Given the description of an element on the screen output the (x, y) to click on. 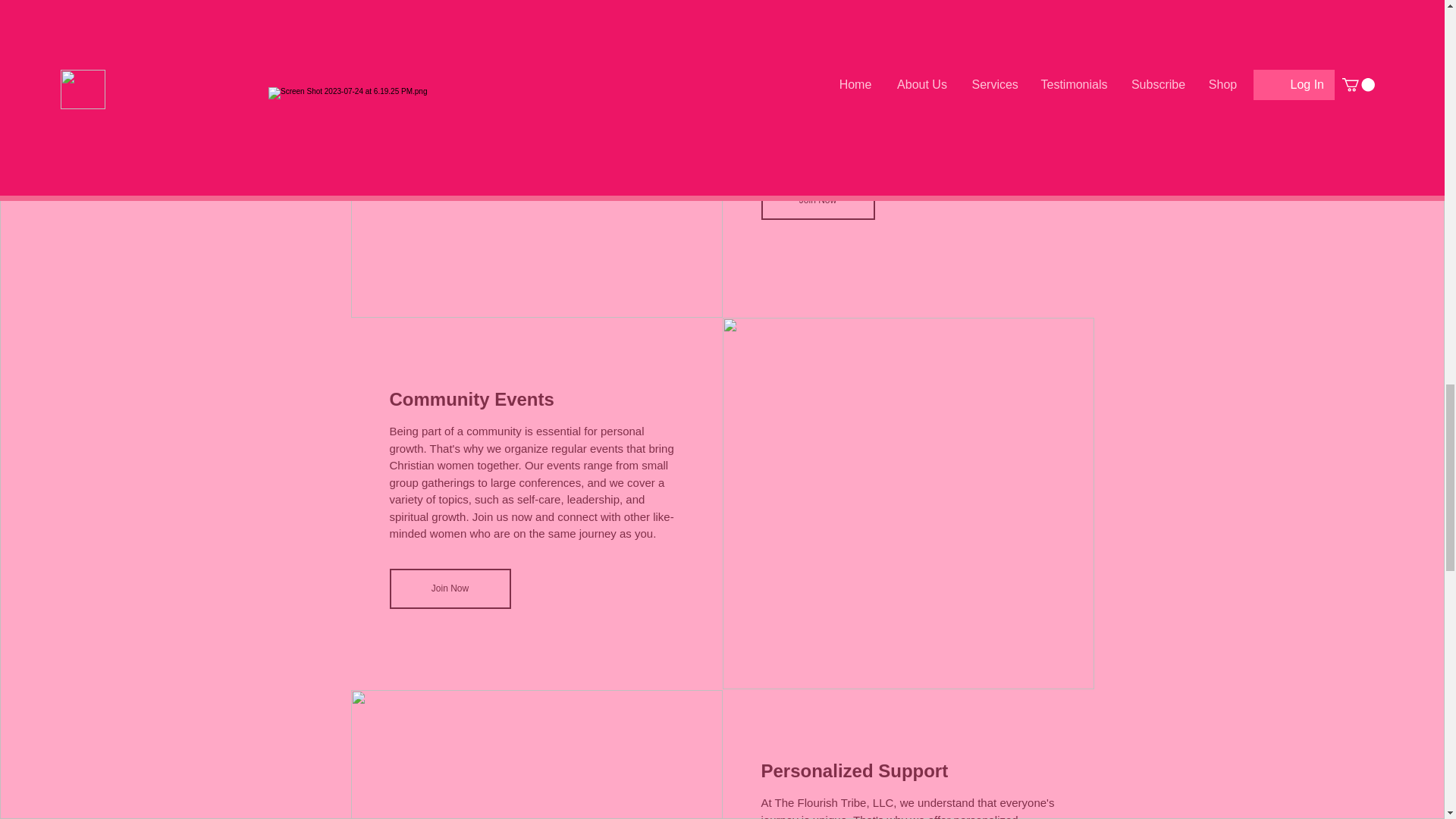
Join Now (450, 588)
GettyImages-576798533-edit.jpg (536, 158)
Join Now (818, 199)
